Given the description of an element on the screen output the (x, y) to click on. 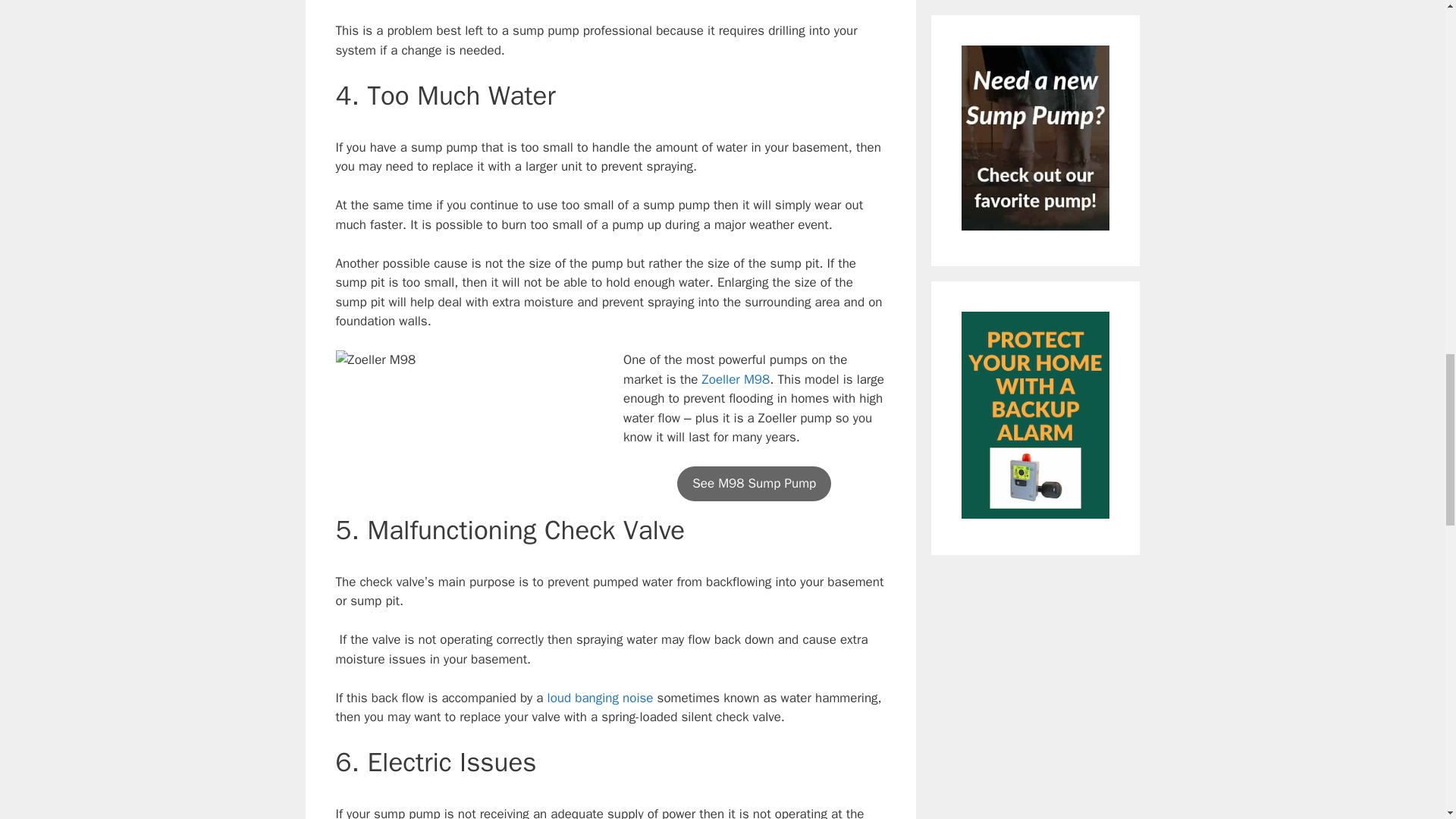
Zoeller M98 (735, 379)
See M98 Sump Pump (754, 483)
loud banging noise (600, 697)
